Given the description of an element on the screen output the (x, y) to click on. 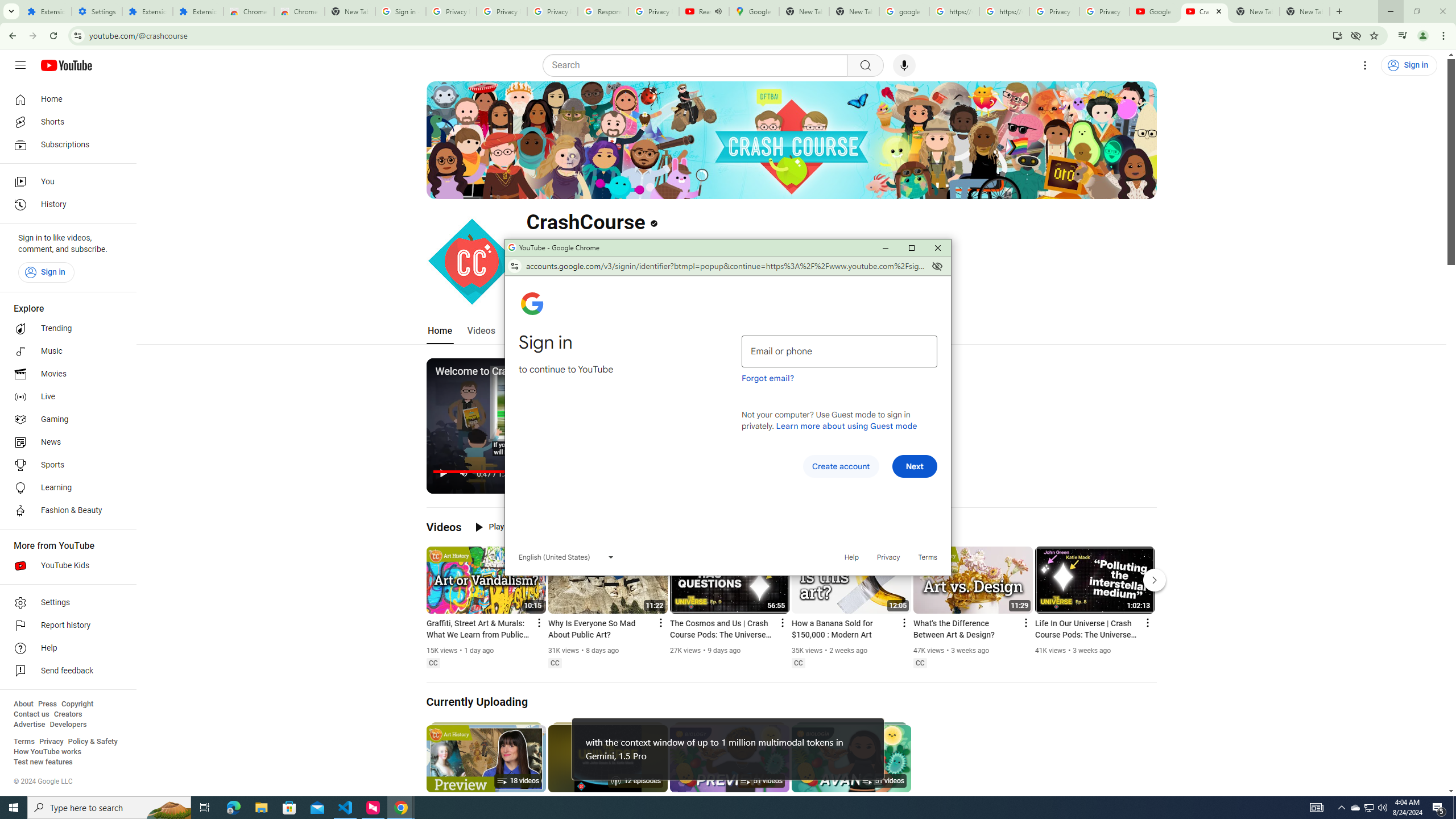
New Tab (1304, 11)
Settings (1365, 65)
Extensions (46, 11)
Movies (64, 373)
CrashCourse - YouTube (1204, 11)
Fashion & Beauty (64, 510)
Settings (97, 11)
Next (914, 466)
Start (13, 807)
Type here to search (108, 807)
